Given the description of an element on the screen output the (x, y) to click on. 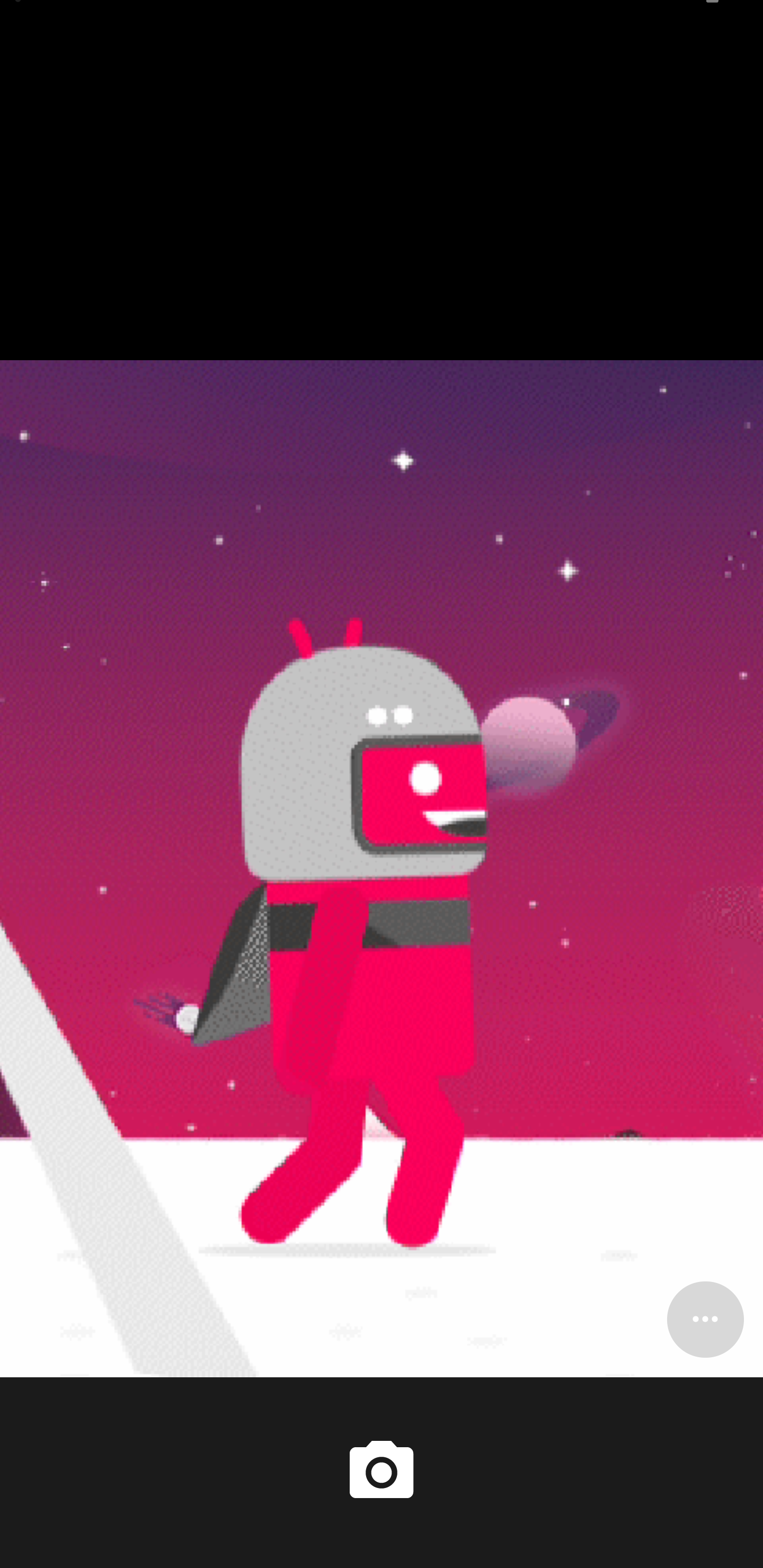
Options (704, 1319)
Shutter (381, 1472)
